Given the description of an element on the screen output the (x, y) to click on. 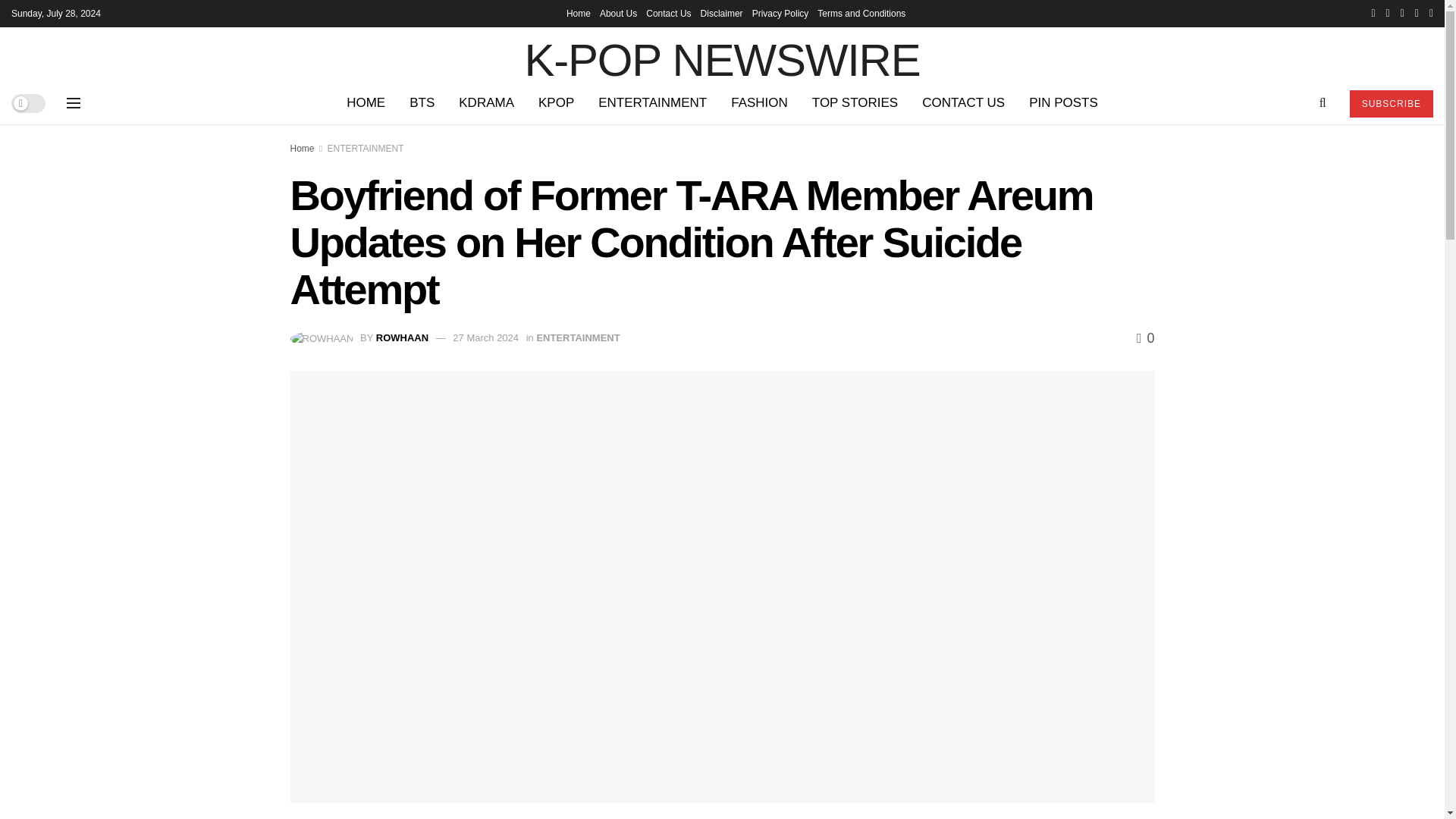
ENTERTAINMENT (652, 102)
FASHION (759, 102)
KDRAMA (485, 102)
CONTACT US (963, 102)
SUBSCRIBE (1390, 103)
Home (578, 13)
Privacy Policy (780, 13)
Contact Us (668, 13)
K-POP NEWSWIRE (722, 53)
TOP STORIES (854, 102)
PIN POSTS (1062, 102)
HOME (365, 102)
Terms and Conditions (860, 13)
BTS (421, 102)
About Us (618, 13)
